Given the description of an element on the screen output the (x, y) to click on. 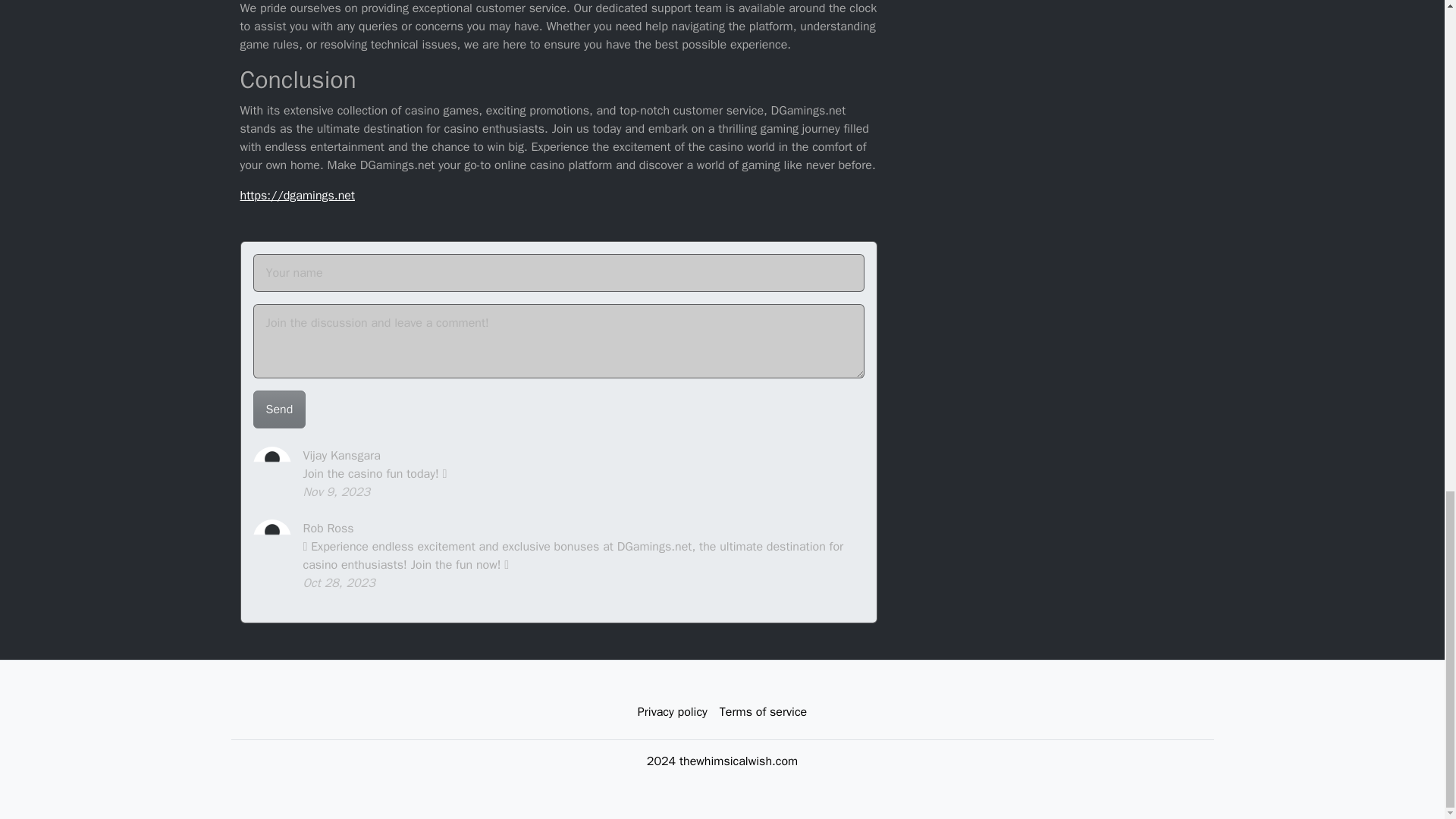
Send (279, 409)
Send (279, 409)
